Given the description of an element on the screen output the (x, y) to click on. 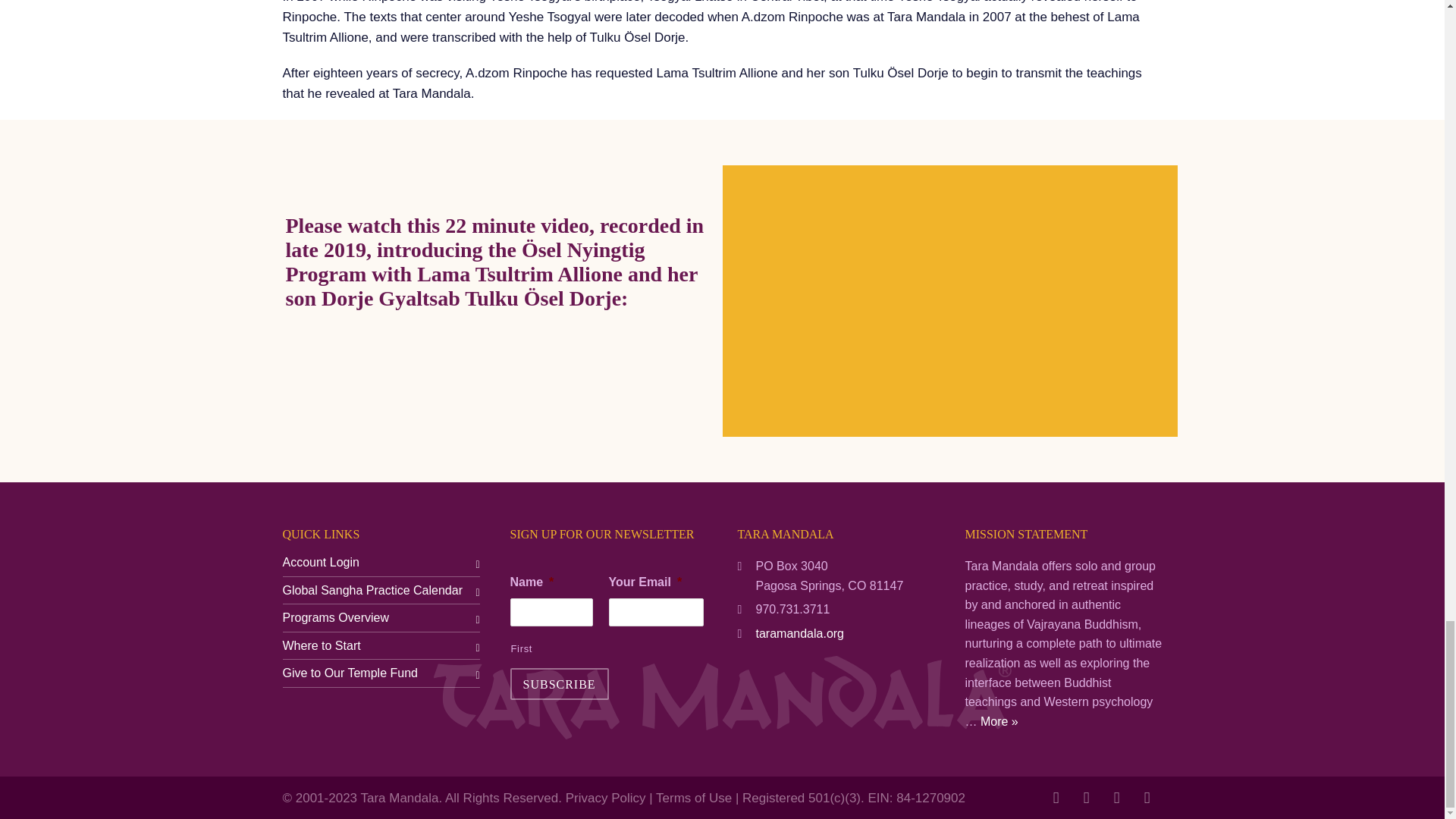
Subscribe (558, 684)
Instagram (1085, 797)
Facebook (1055, 797)
YouTube (1146, 797)
Twitter (1115, 797)
